Given the description of an element on the screen output the (x, y) to click on. 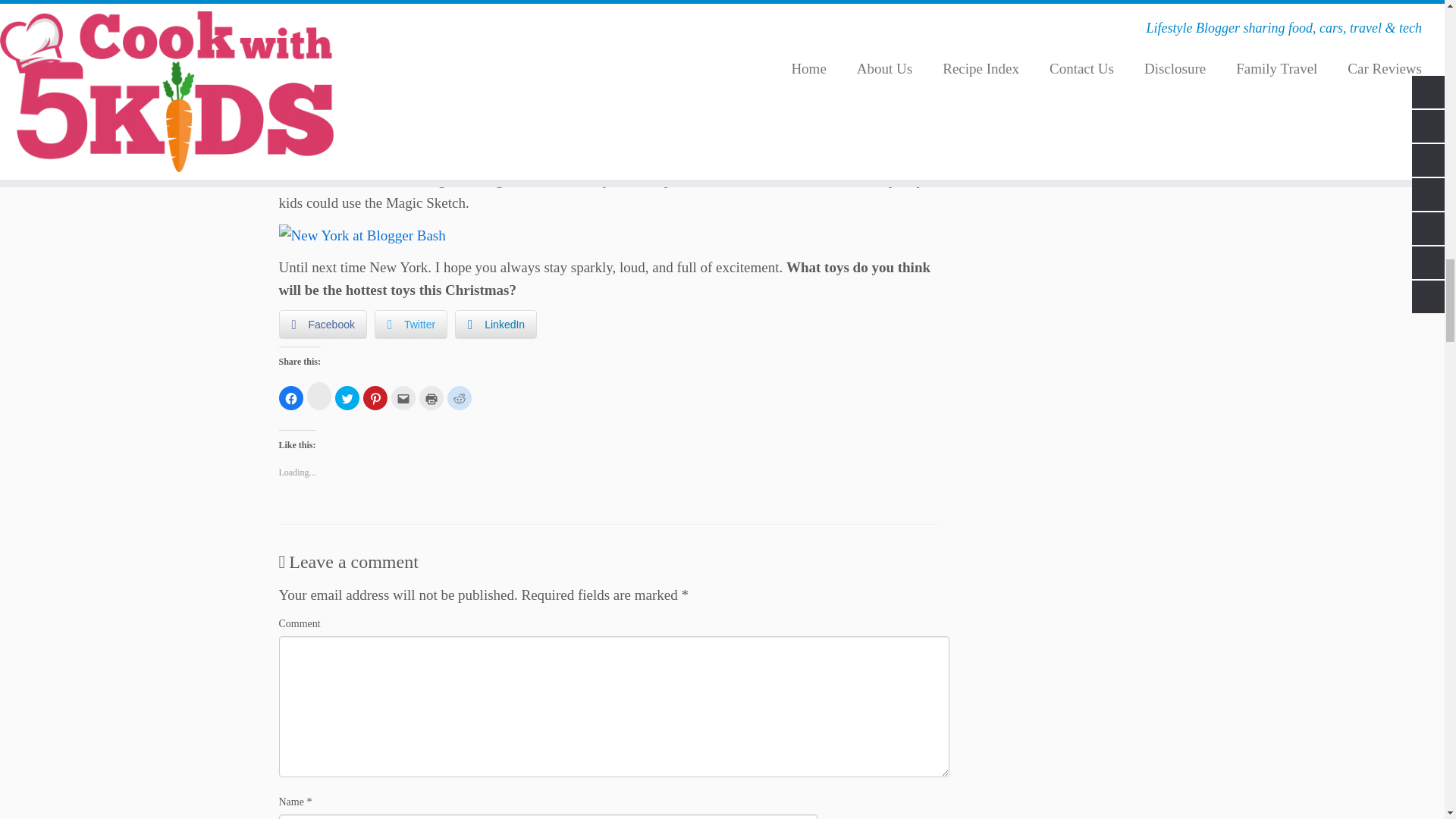
Click to email this to a friend (402, 397)
Magic Sketch (382, 110)
Click to share on Twitter (346, 397)
Click to share on Facebook (290, 397)
Click to share on Pinterest (374, 397)
Click to print (430, 397)
Boogie board (592, 122)
Facebook (322, 324)
LinkedIn (495, 324)
Twitter (410, 324)
Click to share on Reddit (458, 397)
